Given the description of an element on the screen output the (x, y) to click on. 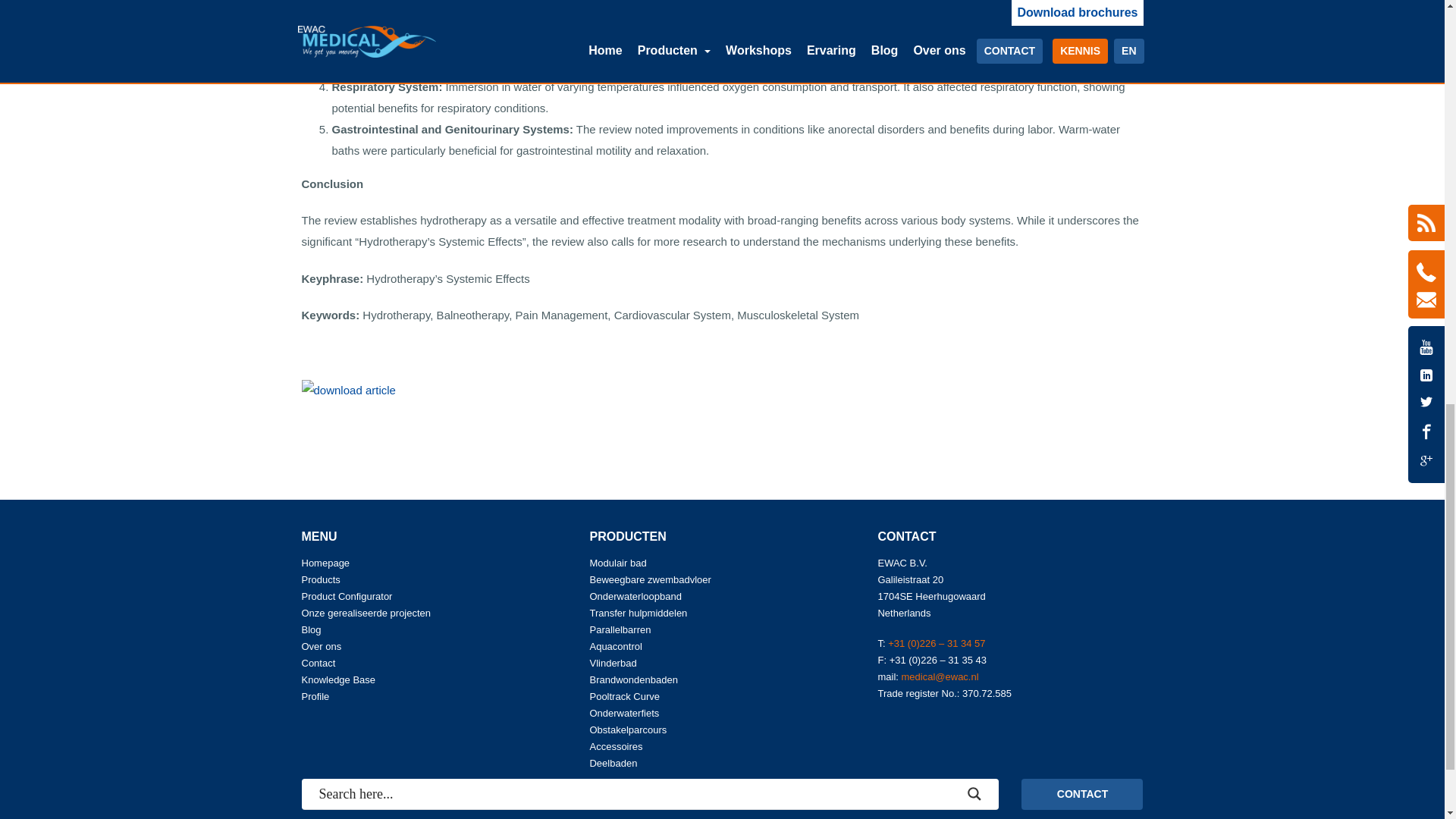
Profile (315, 696)
Onze gerealiseerde projecten (365, 613)
Homepage (325, 562)
Beweegbare zwembadvloer (649, 579)
Knowledge Base (338, 679)
Products (320, 579)
Onderwaterloopband (635, 595)
Over ons (321, 645)
Product Configurator (347, 595)
Contact (318, 663)
Transfer hulpmiddelen (638, 613)
Blog (311, 629)
Modulair bad (617, 562)
